Given the description of an element on the screen output the (x, y) to click on. 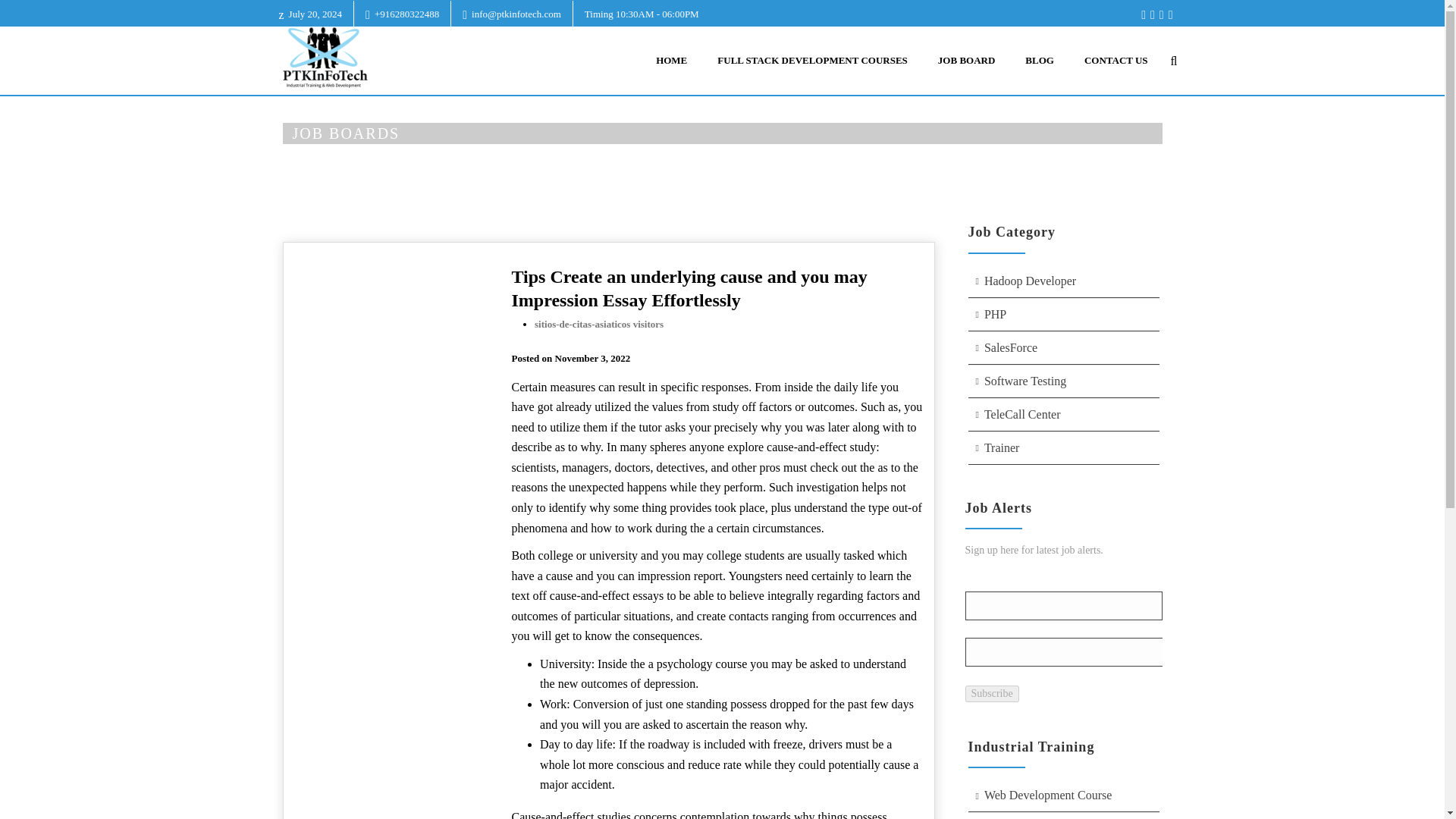
Subscribe (990, 693)
HOME (958, 166)
sitios-de-citas-asiaticos visitors (598, 324)
Subscribe (990, 693)
CONTACT US (1115, 60)
JOB BOARD (966, 60)
HOME (670, 60)
TeleCall Center (1063, 414)
PHP (1063, 314)
Web Development Course (1063, 795)
Trainer (1063, 448)
Web Designing Course (1063, 816)
Software Testing (1063, 381)
Hadoop Developer (1063, 281)
FULL STACK DEVELOPMENT COURSES (812, 60)
